Given the description of an element on the screen output the (x, y) to click on. 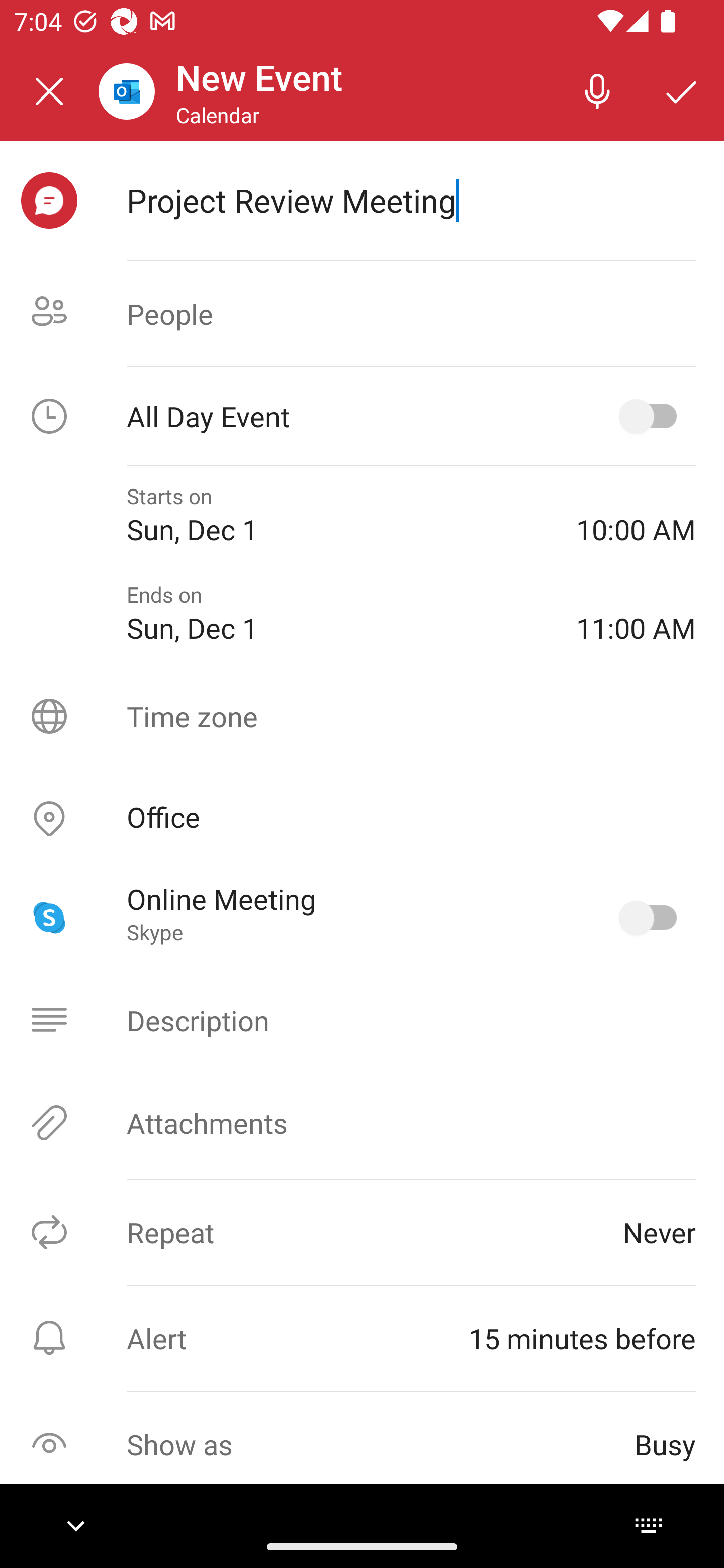
Close (49, 91)
Save (681, 90)
Project Review Meeting (410, 200)
review selected, event icon picker (48, 200)
People (362, 313)
All Day Event (362, 415)
Starts on Sun, Dec 1 (336, 514)
10:00 AM (635, 514)
Ends on Sun, Dec 1 (336, 613)
11:00 AM (635, 613)
Time zone (362, 715)
Location, Office Office (362, 818)
Online Meeting, Skype selected (651, 917)
Description (362, 1019)
Attachments (362, 1122)
Repeat Never (362, 1232)
Alert ⁨15 minutes before (362, 1337)
Show as Busy (362, 1444)
